Given the description of an element on the screen output the (x, y) to click on. 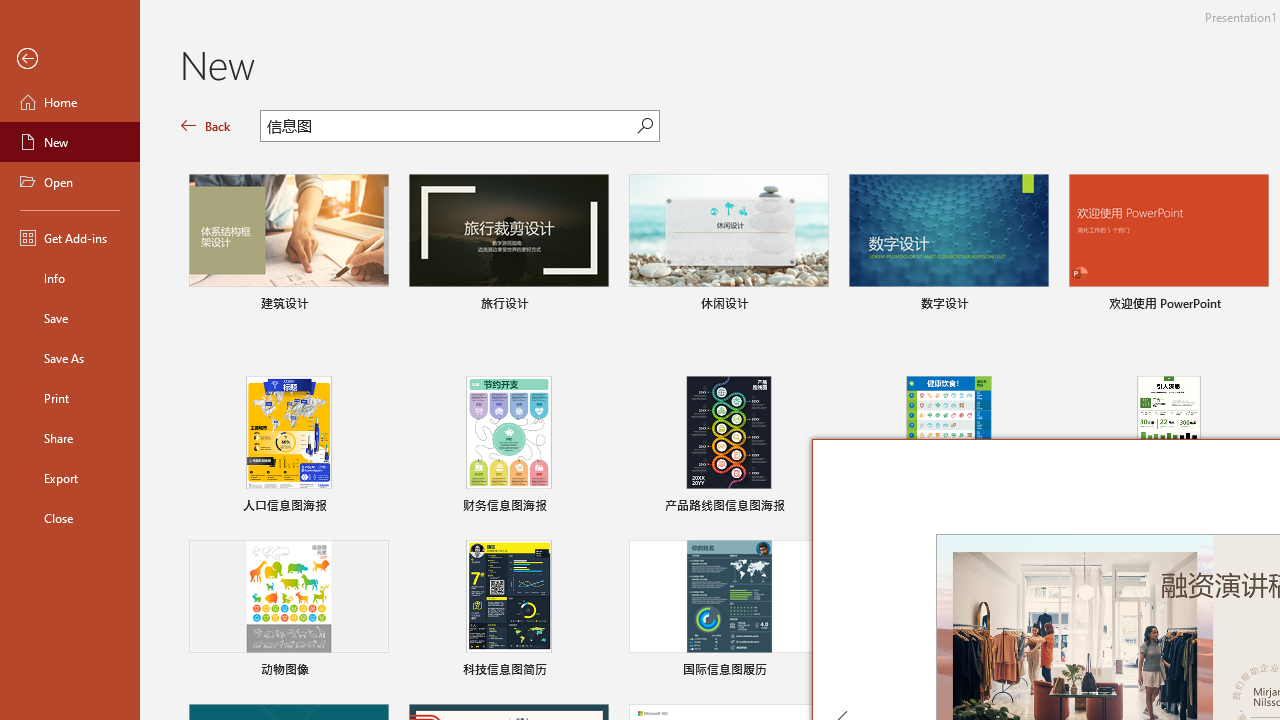
Back (205, 125)
New (69, 141)
Info (69, 277)
Search for online templates and themes (449, 128)
Pin to list (595, 671)
